Given the description of an element on the screen output the (x, y) to click on. 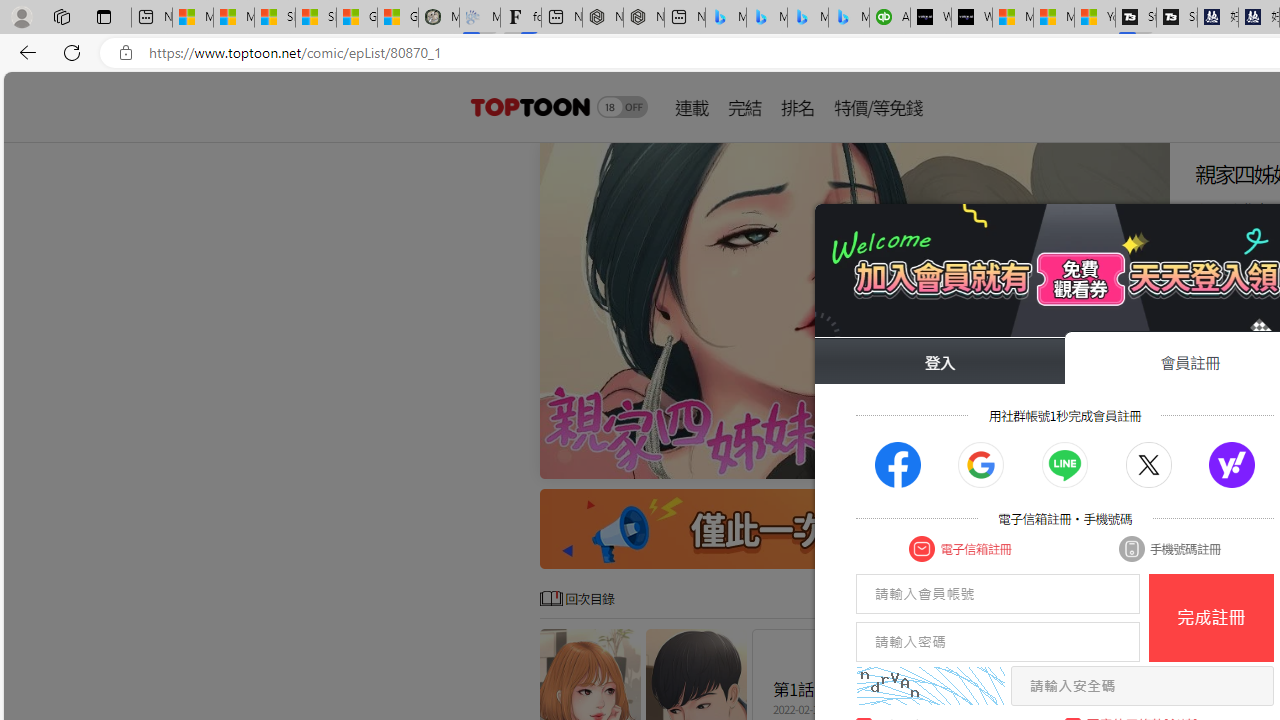
Accounting Software for Accountants, CPAs and Bookkeepers (890, 17)
Microsoft Bing Travel - Stays in Bangkok, Bangkok, Thailand (767, 17)
